Given the description of an element on the screen output the (x, y) to click on. 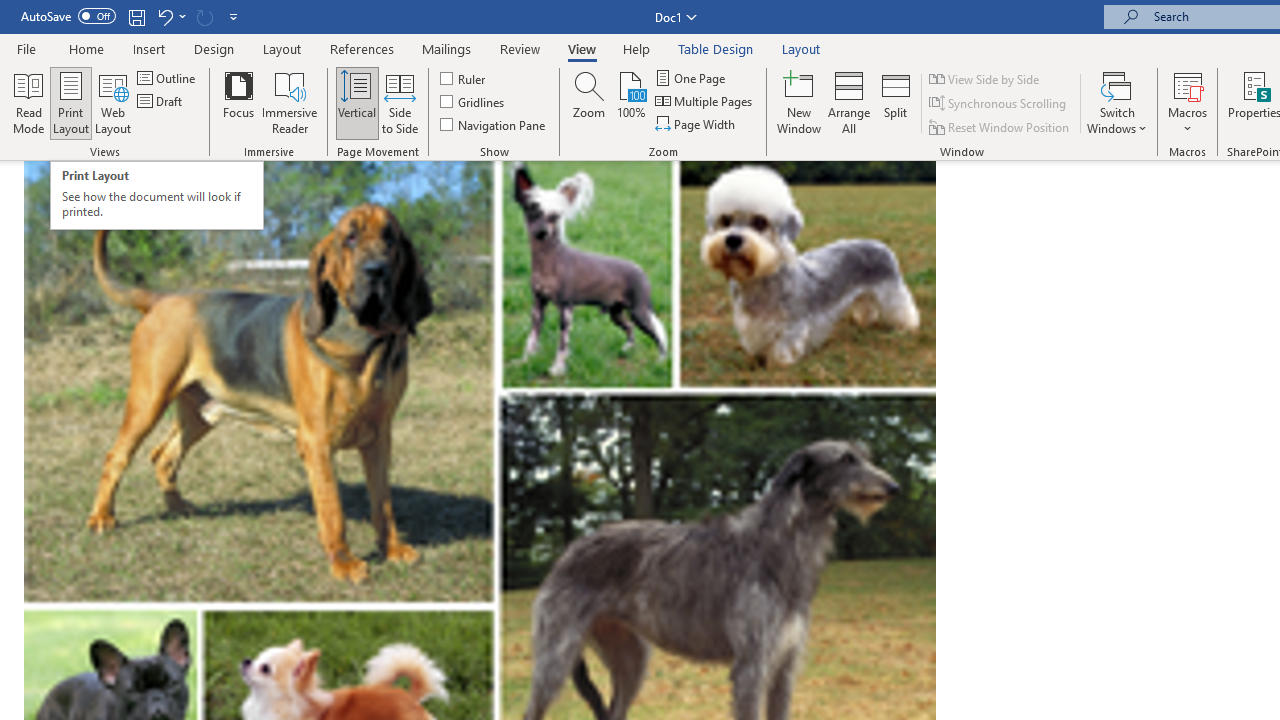
Undo Row Height Spinner (170, 15)
Reset Window Position (1000, 126)
Focus (238, 102)
Vertical (356, 102)
New Window (799, 102)
Page Width (696, 124)
100% (630, 102)
Draft (161, 101)
